Given the description of an element on the screen output the (x, y) to click on. 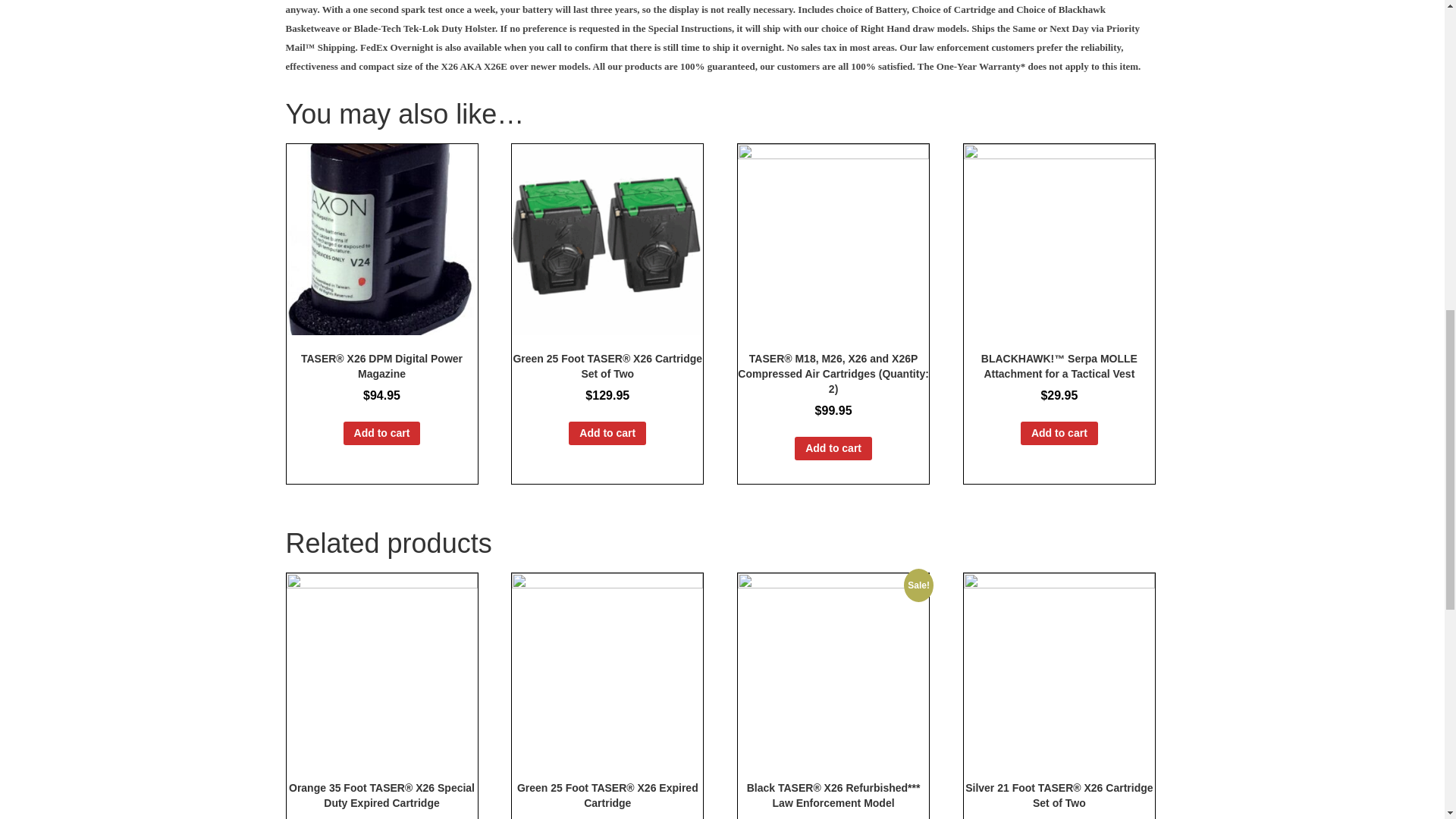
Add to cart (381, 433)
Add to cart (833, 448)
Add to cart (1058, 433)
Add to cart (607, 433)
